Given the description of an element on the screen output the (x, y) to click on. 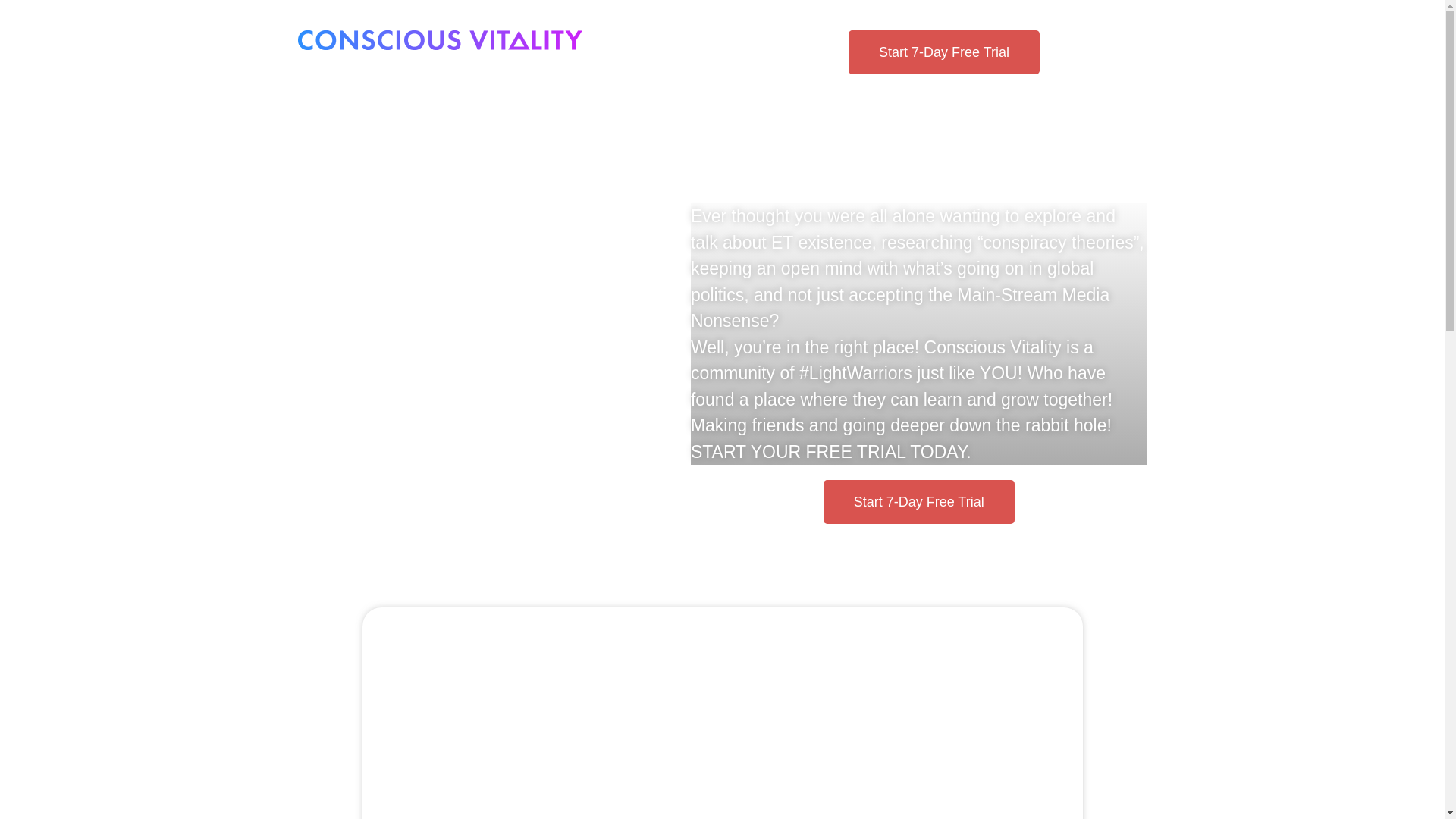
Start 7-Day Free Trial (943, 52)
Start 7-Day Free Trial (919, 501)
